Given the description of an element on the screen output the (x, y) to click on. 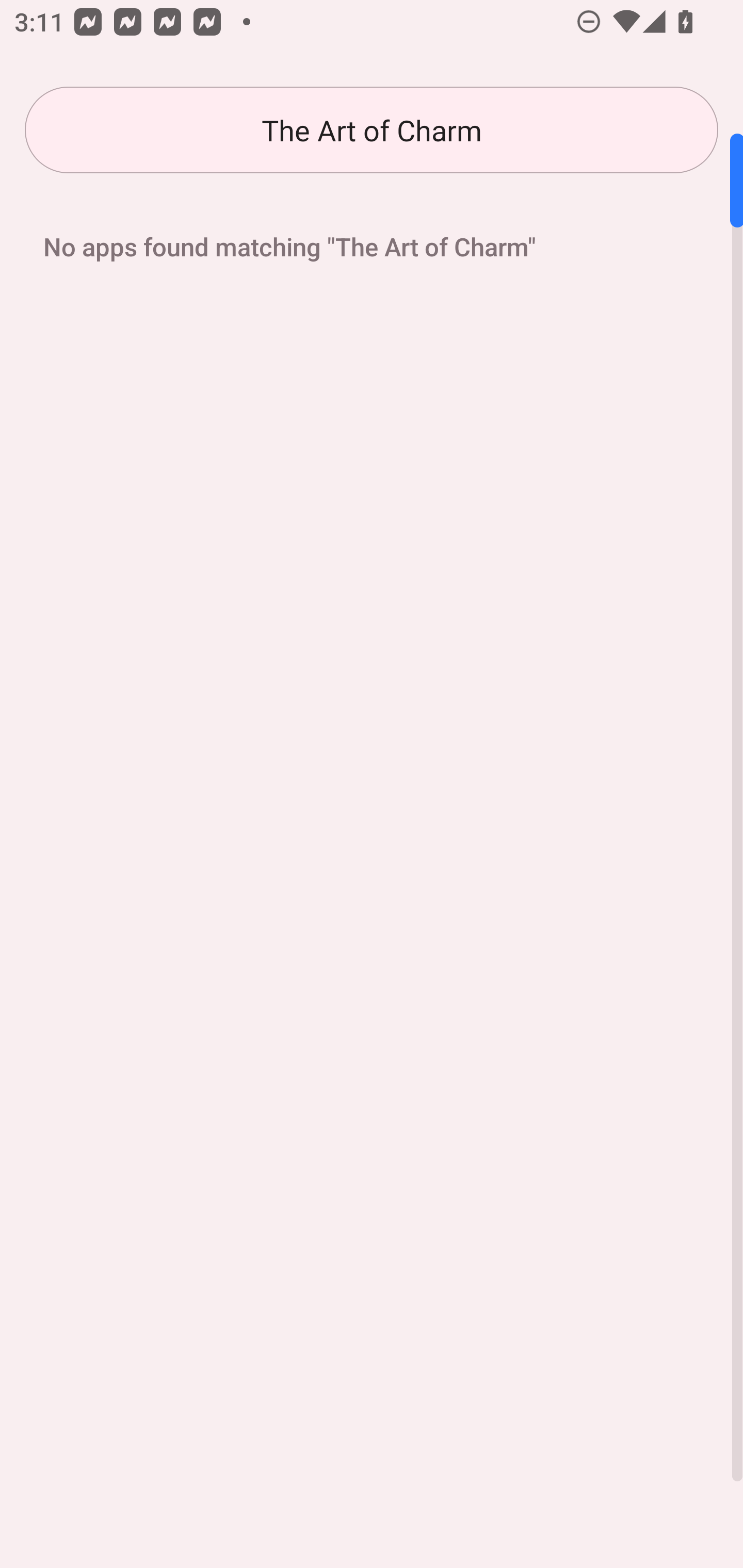
The Art of Charm (371, 130)
